Given the description of an element on the screen output the (x, y) to click on. 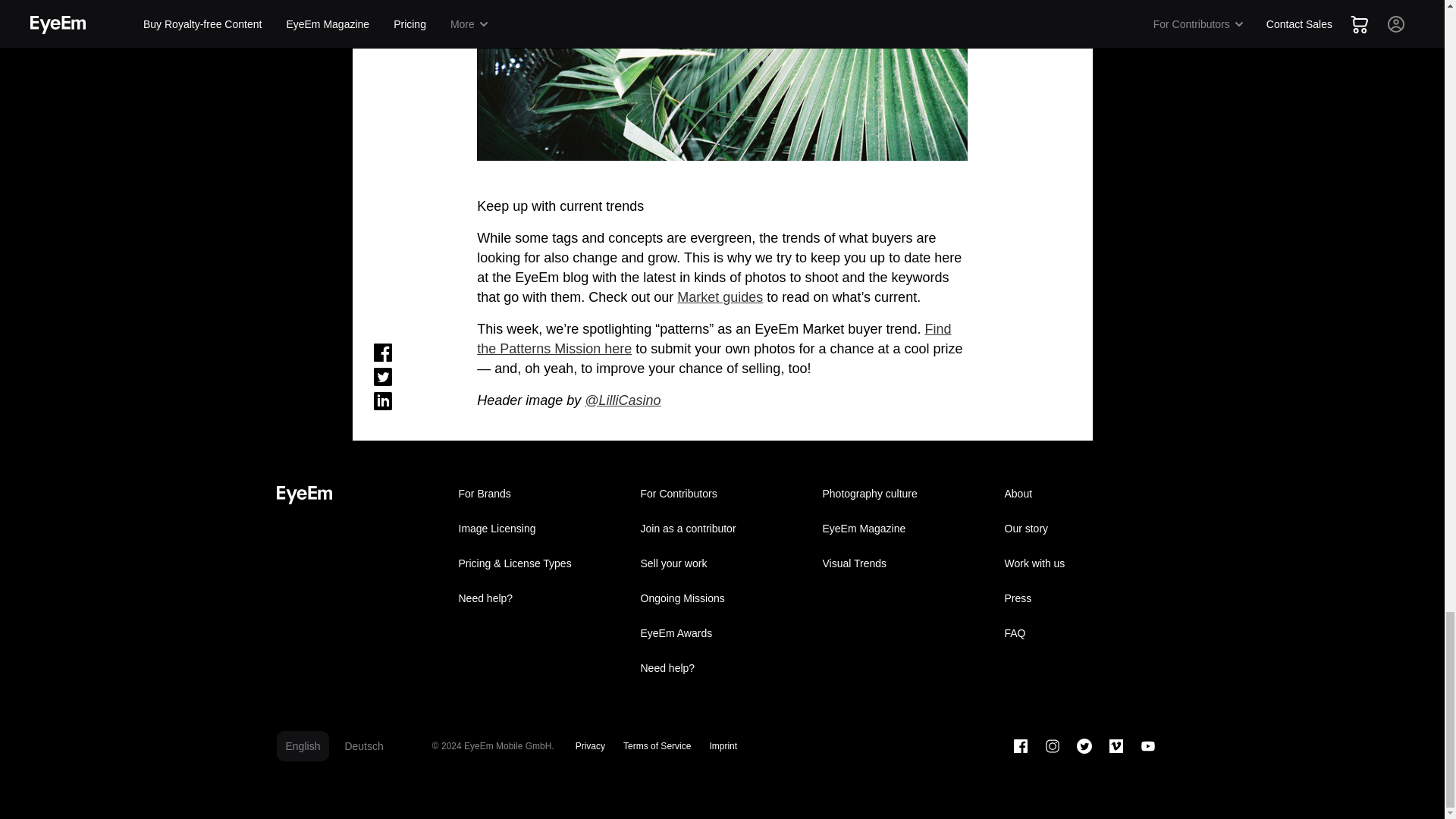
Ongoing Missions (721, 597)
Work with us (1085, 562)
Press (1085, 597)
FAQ (1085, 632)
Visual Trends (903, 562)
Deutsch (362, 745)
Market guides (719, 296)
Need help? (539, 597)
Join as a contributor (721, 527)
Sell your work (721, 562)
EyeEm Magazine (903, 527)
Find the Patterns Mission here (713, 338)
EyeEm Awards (721, 632)
English (302, 745)
Image Licensing (539, 527)
